Given the description of an element on the screen output the (x, y) to click on. 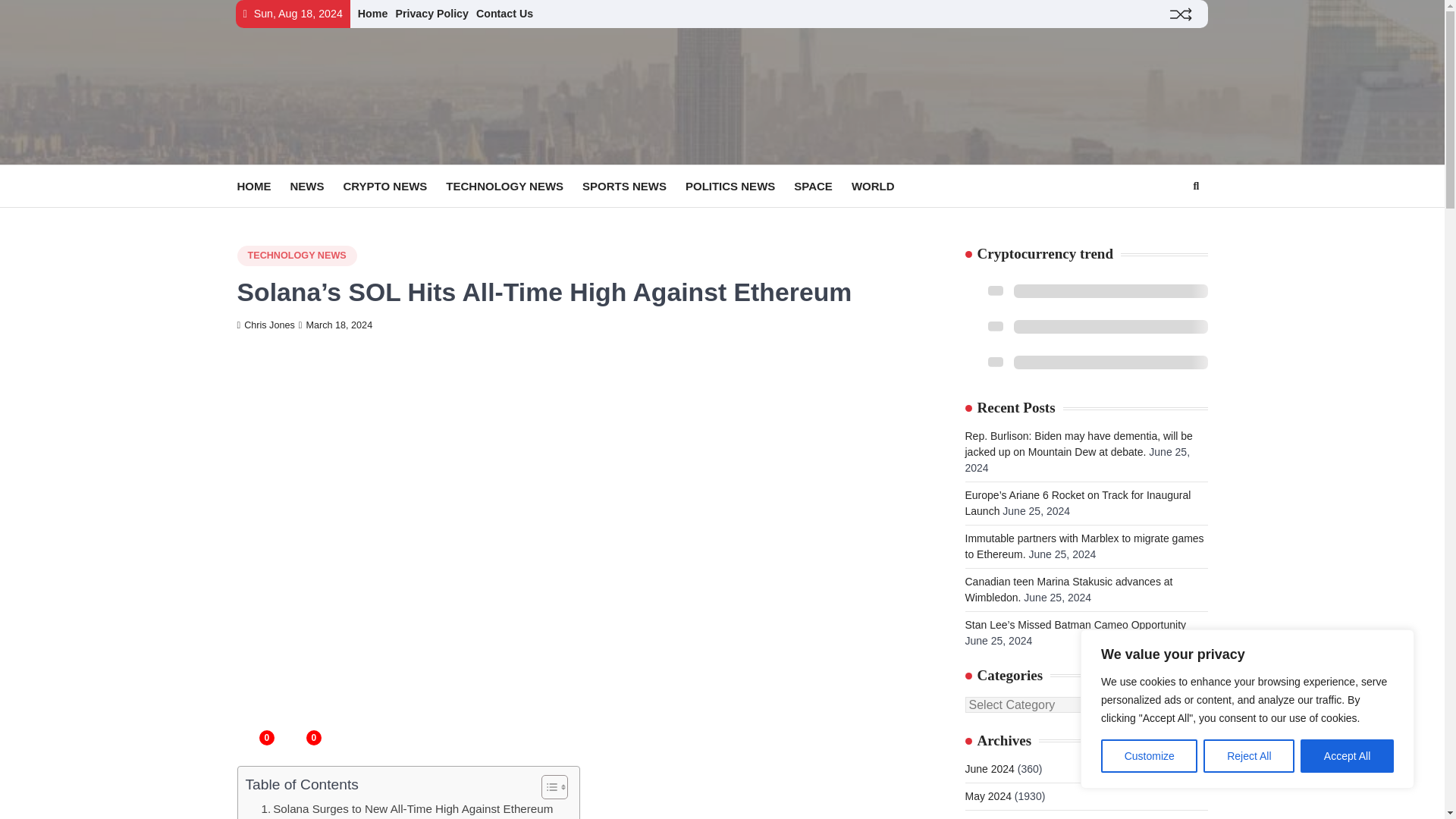
Accept All (1346, 756)
HOME (262, 187)
Chris Jones (264, 325)
Privacy Policy (431, 13)
Customize (1148, 756)
Reject All (1249, 756)
Contact Us (504, 13)
WORLD (882, 187)
Solana Surges to New All-Time High Against Ethereum (406, 809)
March 18, 2024 (335, 325)
